Given the description of an element on the screen output the (x, y) to click on. 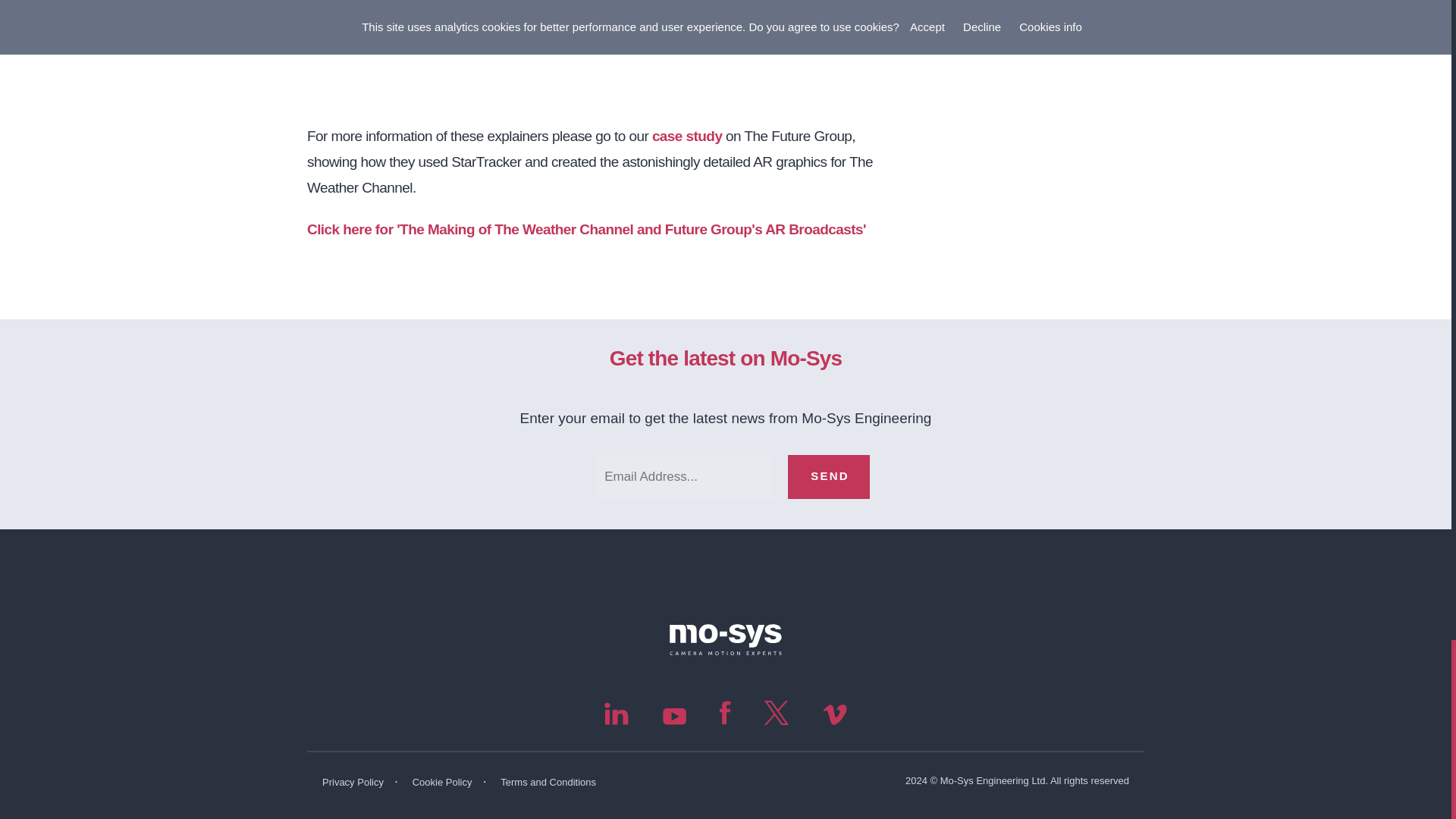
X (777, 720)
case study (687, 135)
LinkedIn (617, 720)
SEND (828, 476)
Facebook (726, 720)
Vimeo (834, 720)
YouTube (675, 720)
